Given the description of an element on the screen output the (x, y) to click on. 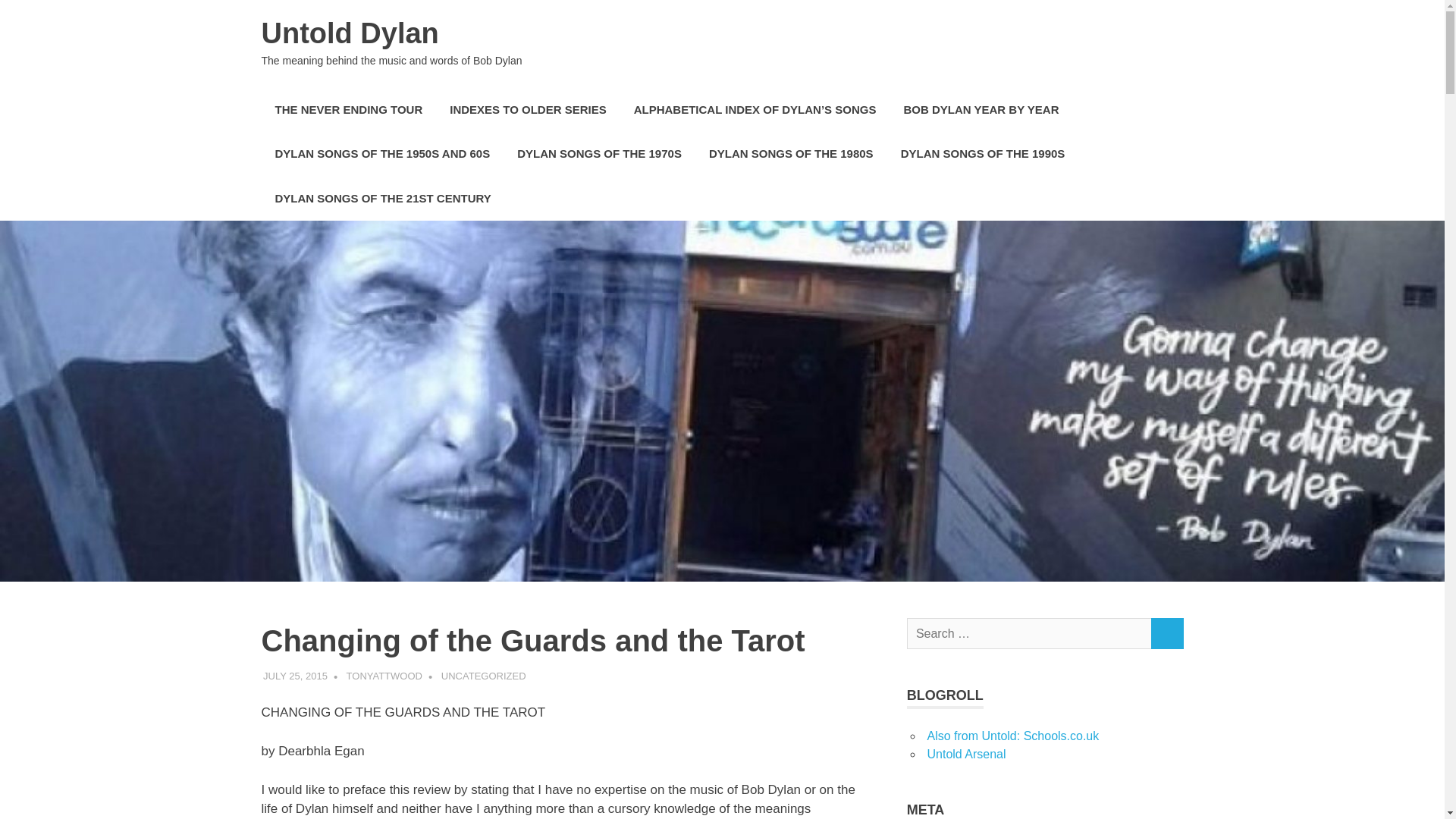
DYLAN SONGS OF THE 1980S (790, 153)
DYLAN SONGS OF THE 1950S AND 60S (381, 153)
Search for: (1029, 633)
View all posts by TonyAttwood (384, 675)
From the same guys: our other hobby (966, 753)
TONYATTWOOD (384, 675)
DYLAN SONGS OF THE 1970S (599, 153)
Advertising to UK schools (1012, 735)
SEARCH (1166, 633)
THE NEVER ENDING TOUR (347, 109)
